Given the description of an element on the screen output the (x, y) to click on. 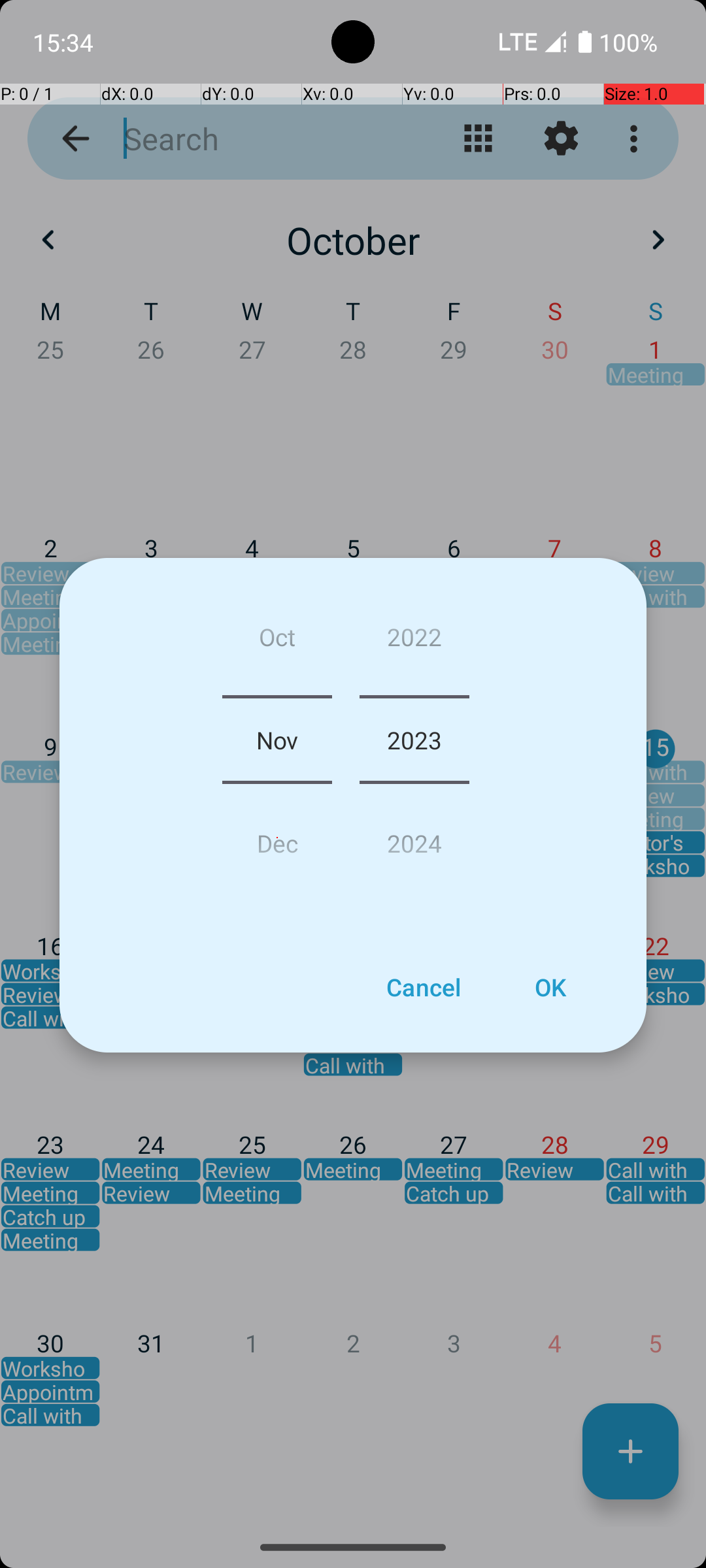
Dec Element type: android.widget.Button (277, 837)
